Given the description of an element on the screen output the (x, y) to click on. 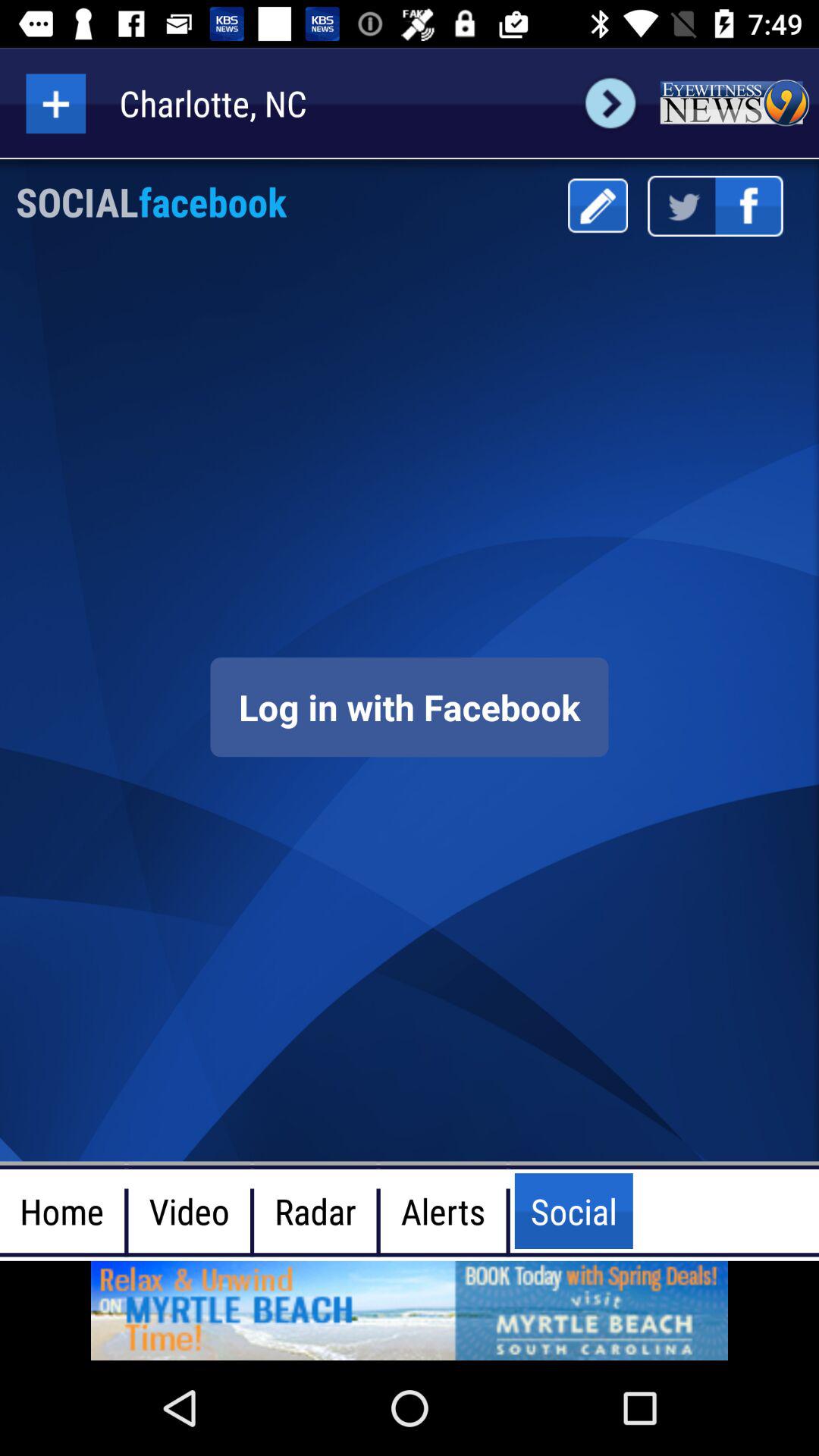
open page (409, 1310)
